Given the description of an element on the screen output the (x, y) to click on. 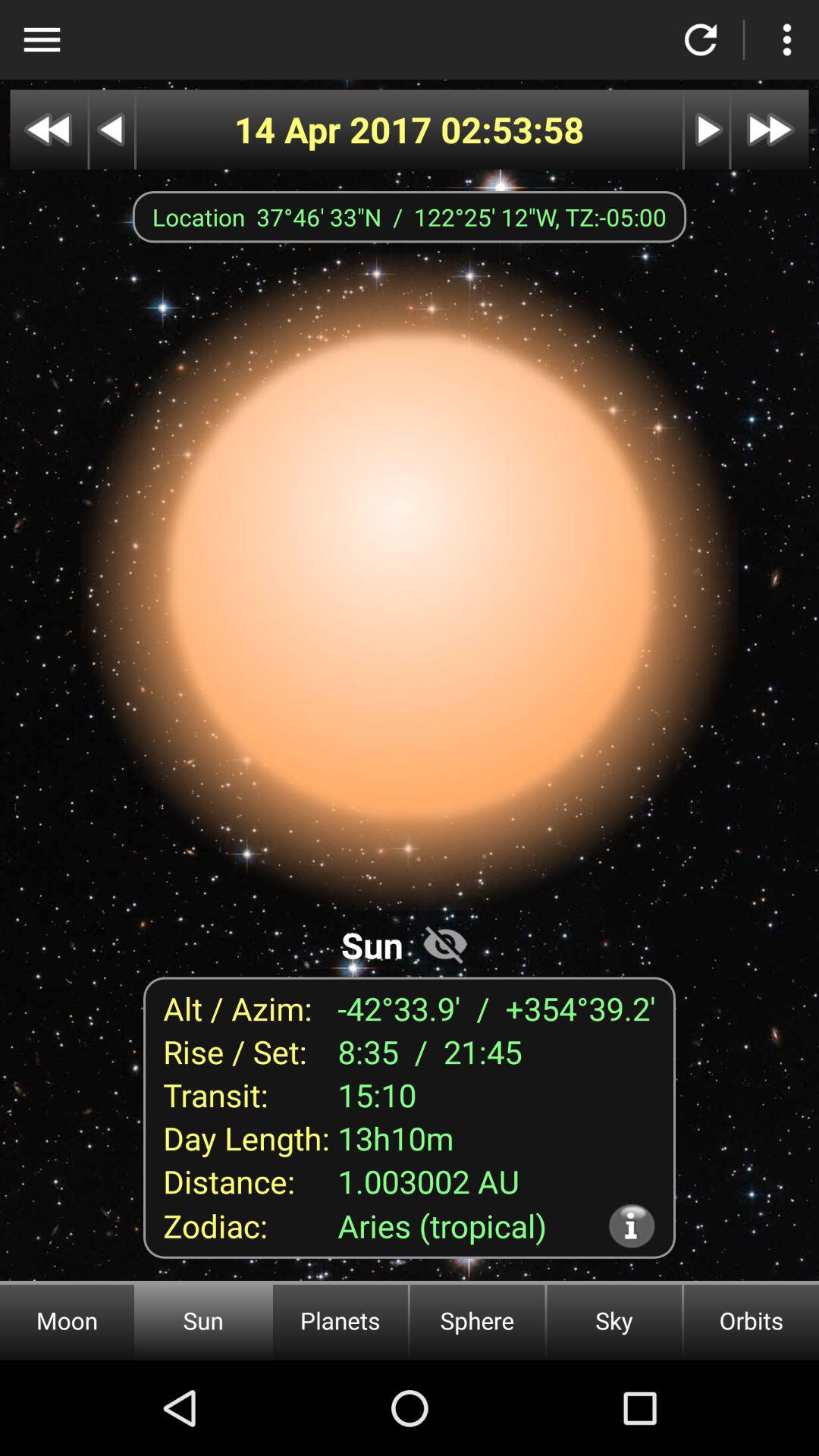
press the app next to the aries (tropical) (631, 1225)
